Given the description of an element on the screen output the (x, y) to click on. 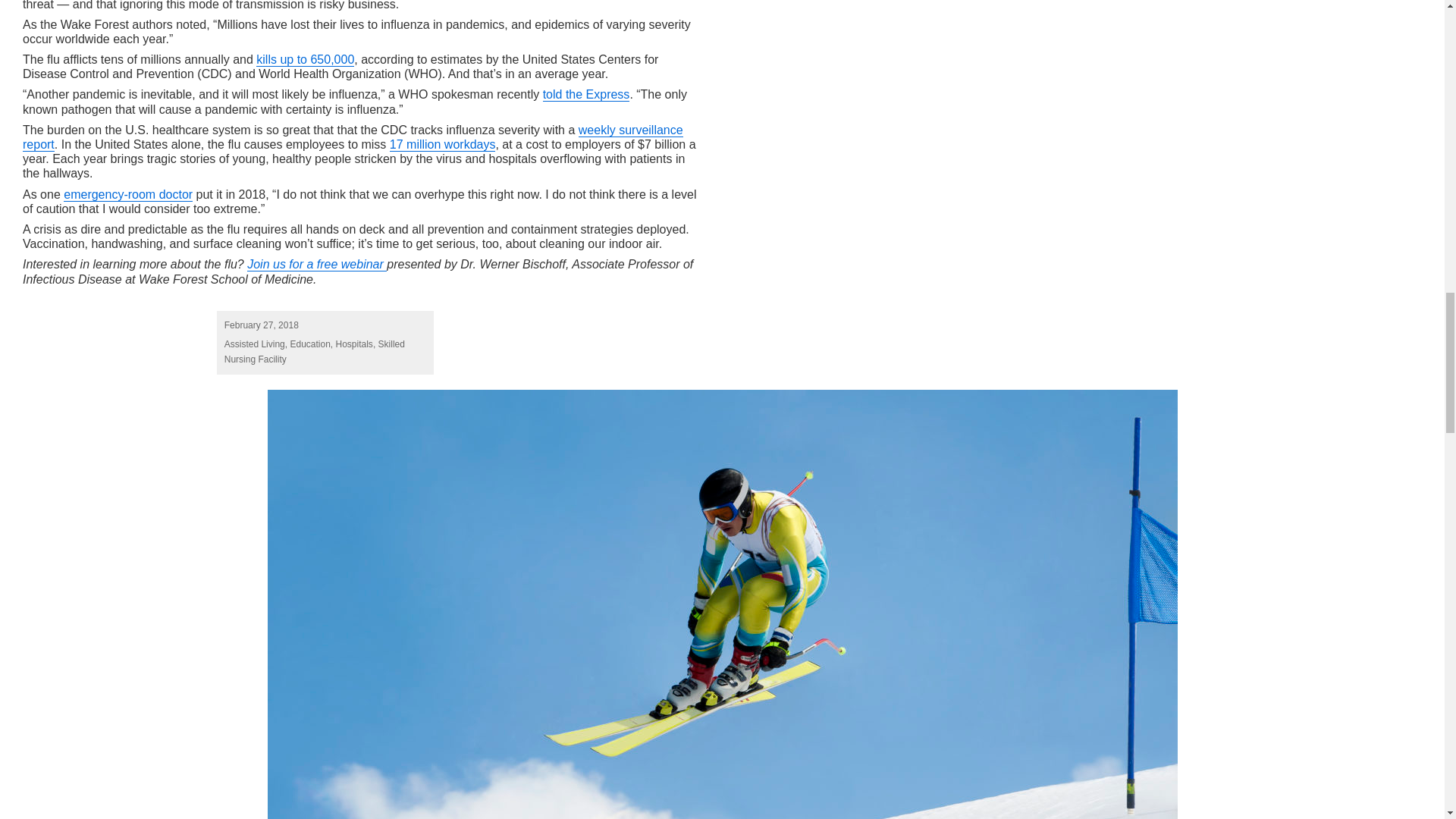
emergency-room doctor (128, 194)
kills up to 650,000 (304, 59)
17 million workdays (443, 144)
told the Express (586, 93)
Join us for a free webinar (317, 264)
weekly surveillance report (352, 136)
